Given the description of an element on the screen output the (x, y) to click on. 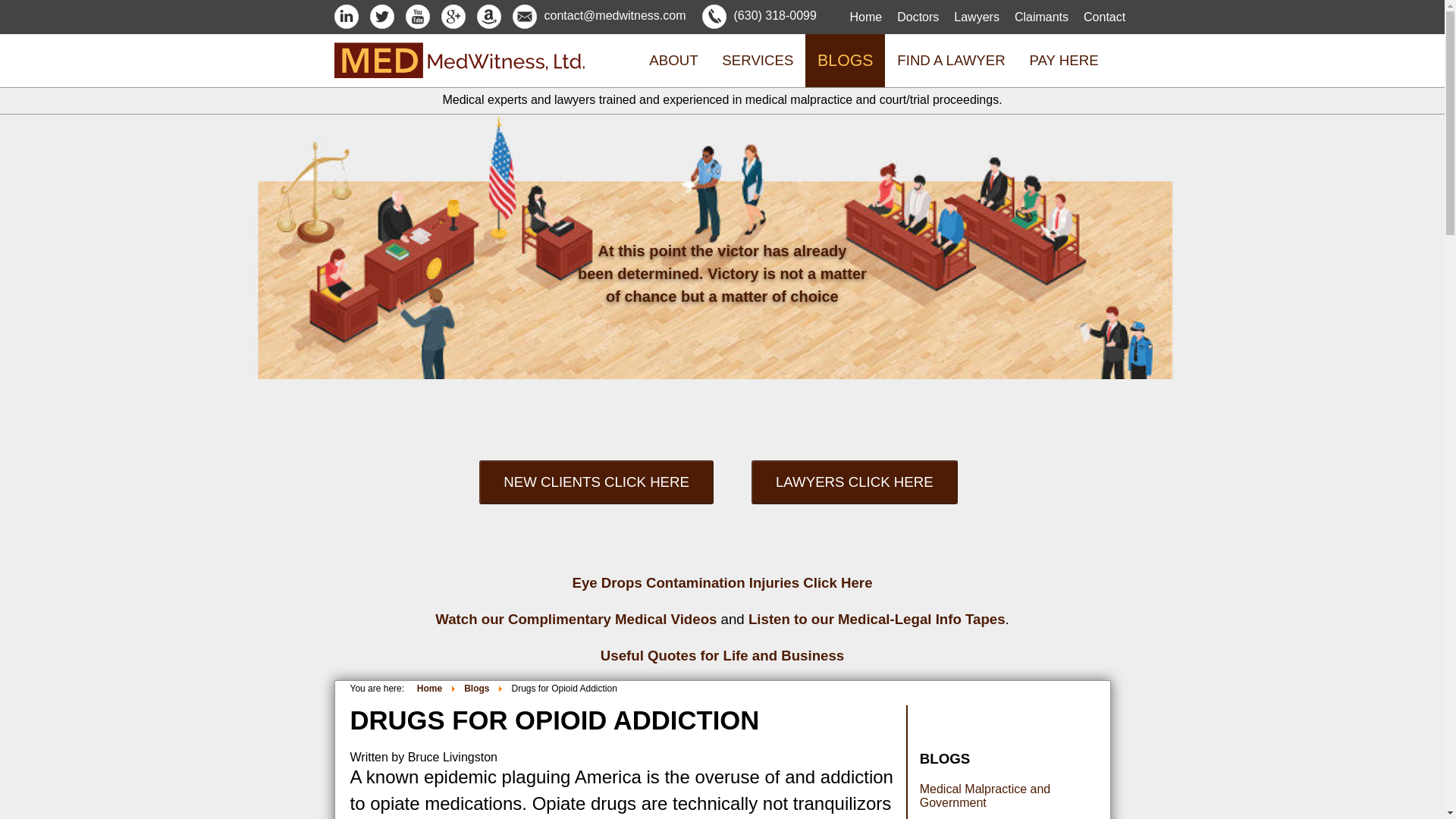
Doctors (917, 16)
Home (865, 16)
Doctors (917, 16)
FIND A LAWYER (950, 60)
LAWYERS CLICK HERE (858, 474)
YouTube (416, 15)
NEW CLIENTS CLICK HERE (599, 474)
Contact (1104, 16)
BLOGS (845, 60)
LinkedIn (345, 15)
Claimants (1041, 16)
MedWitness (458, 73)
Amazon (488, 15)
Home (865, 16)
PAY HERE (1063, 60)
